Given the description of an element on the screen output the (x, y) to click on. 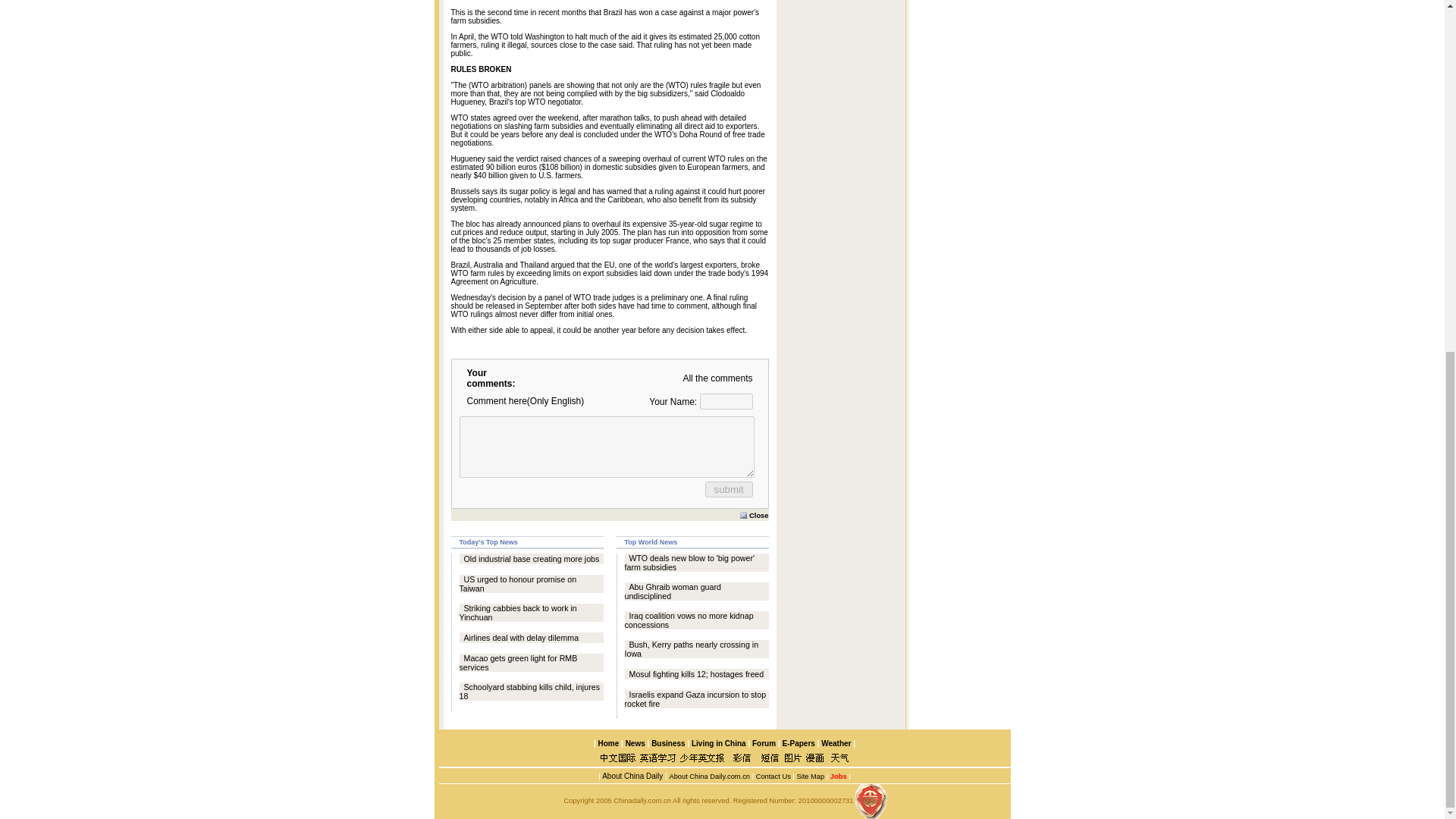
Old industrial base creating more jobs (531, 558)
Abu Ghraib woman guard undisciplined (672, 591)
Israelis expand Gaza incursion to stop rocket fire (695, 699)
Forum (764, 743)
WTO deals new blow to 'big power' farm subsidies (689, 562)
 submit  (728, 488)
Living in China (718, 743)
Macao gets green light for RMB services (519, 662)
E-Papers (797, 743)
Home (607, 743)
